Given the description of an element on the screen output the (x, y) to click on. 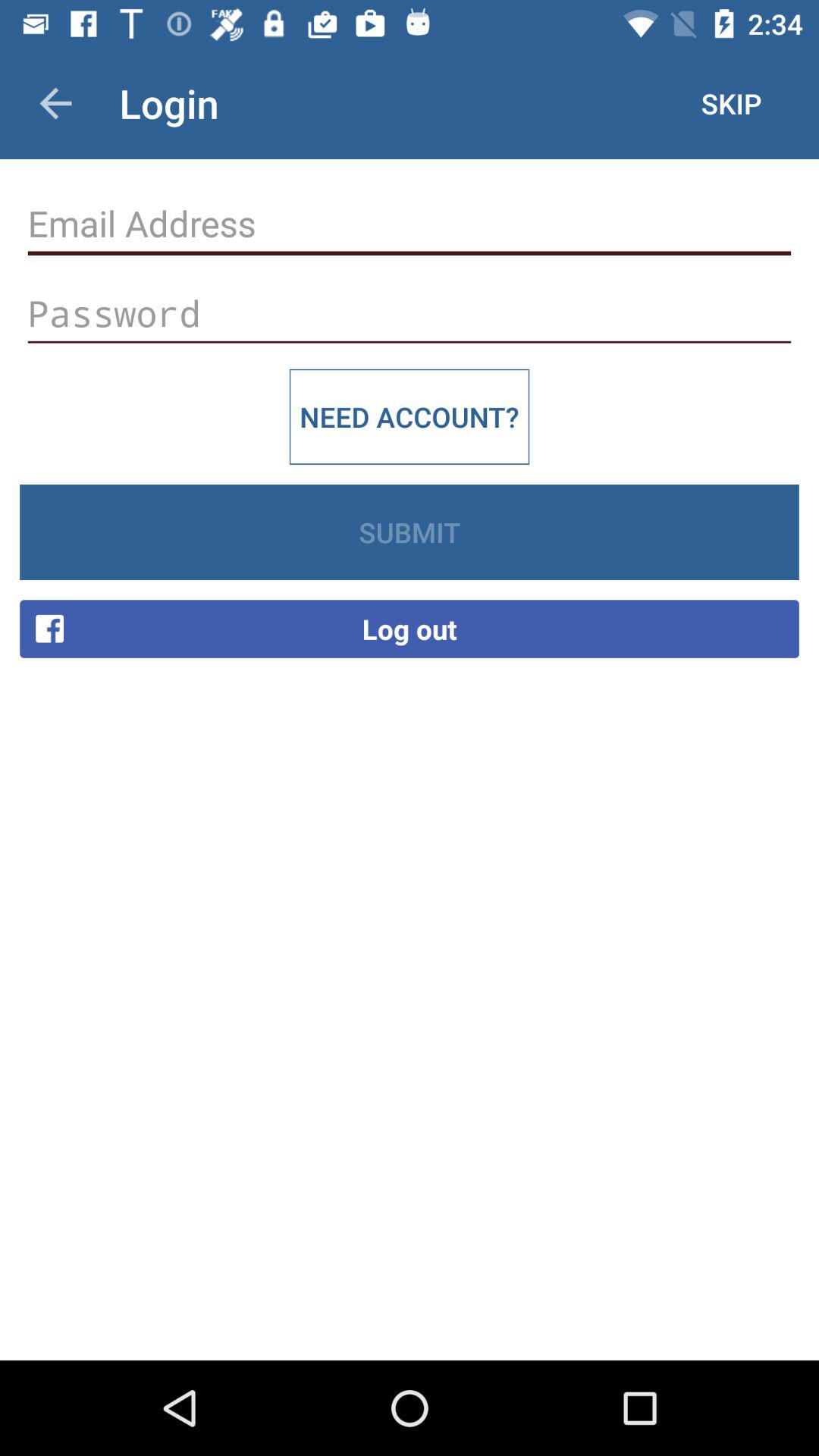
click need account? icon (409, 416)
